Given the description of an element on the screen output the (x, y) to click on. 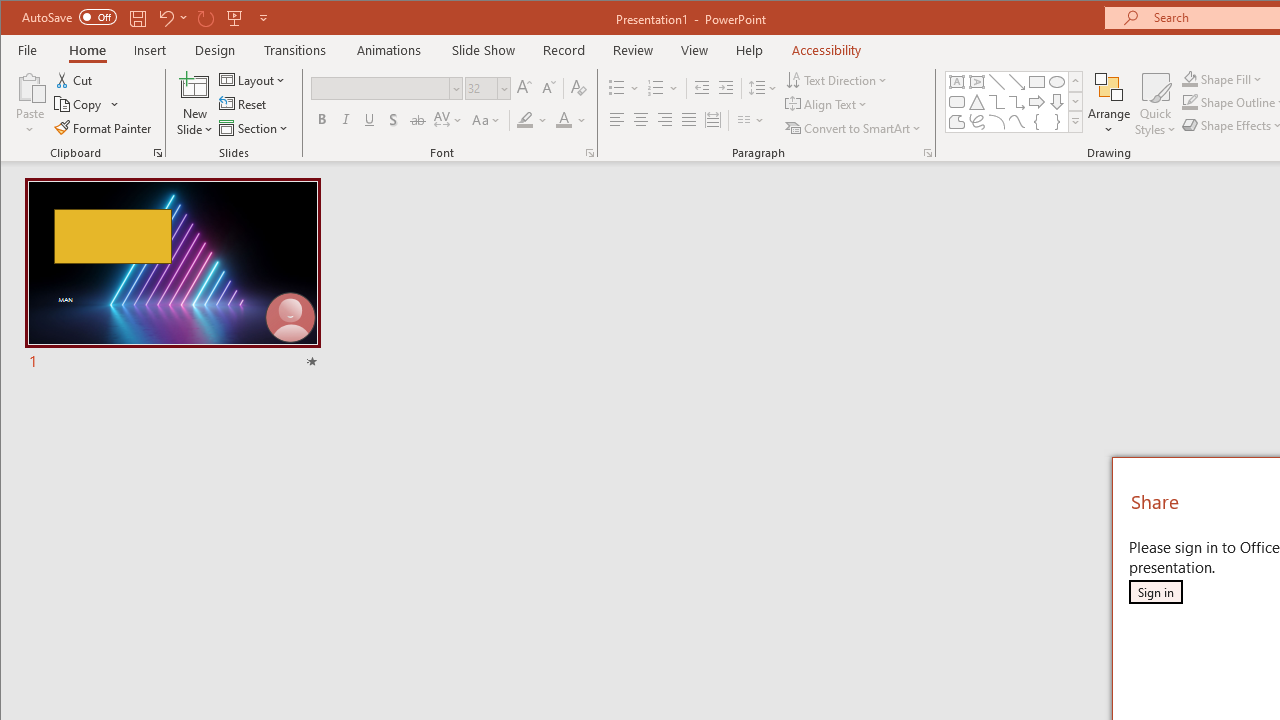
Freeform: Shape (956, 121)
Shape Fill Orange, Accent 2 (1189, 78)
Shapes (1074, 121)
Increase Font Size (524, 88)
Quick Styles (1155, 104)
Cut (74, 80)
Clear Formatting (579, 88)
